Given the description of an element on the screen output the (x, y) to click on. 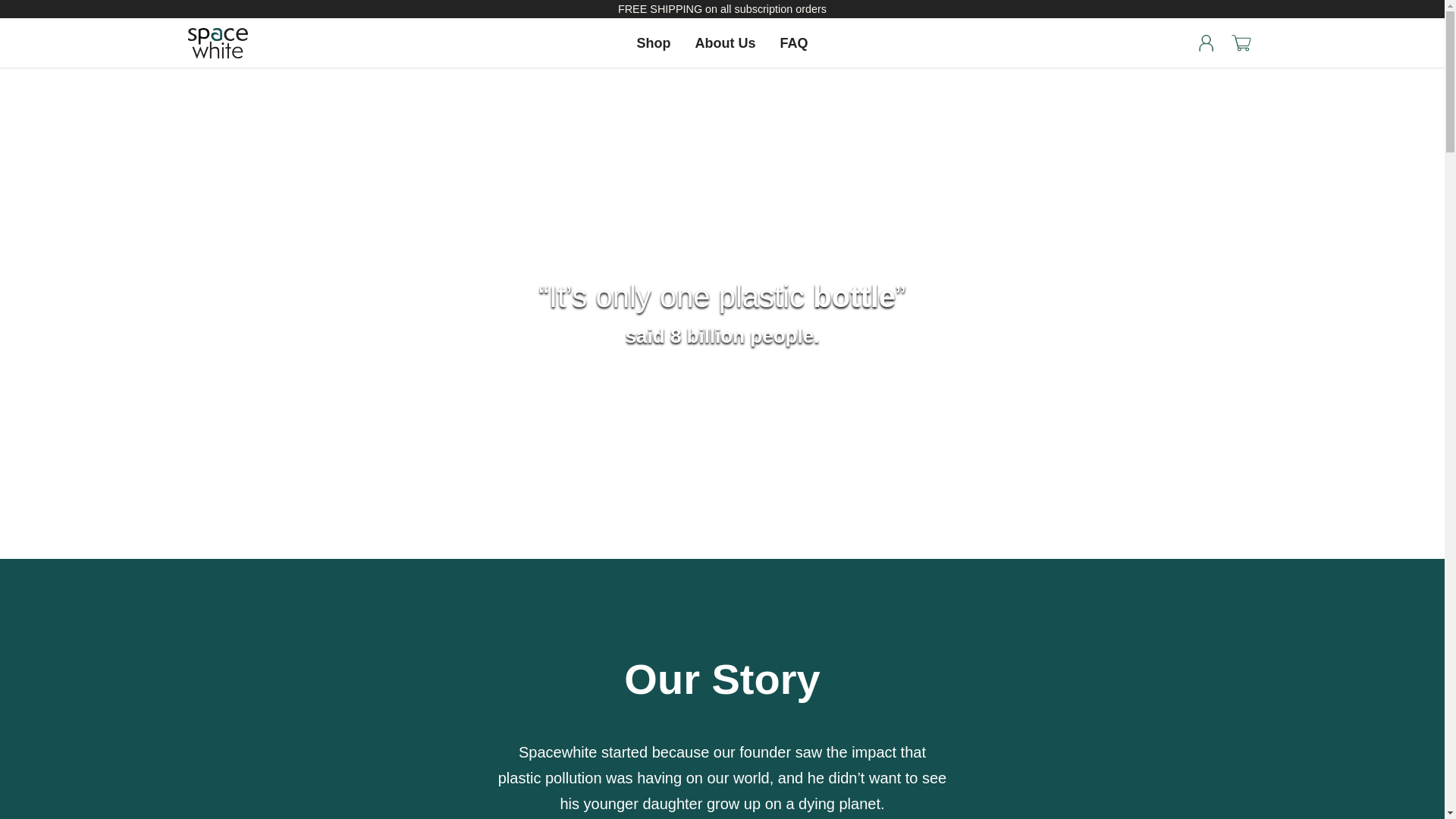
About Us (724, 42)
About Us (724, 42)
